Given the description of an element on the screen output the (x, y) to click on. 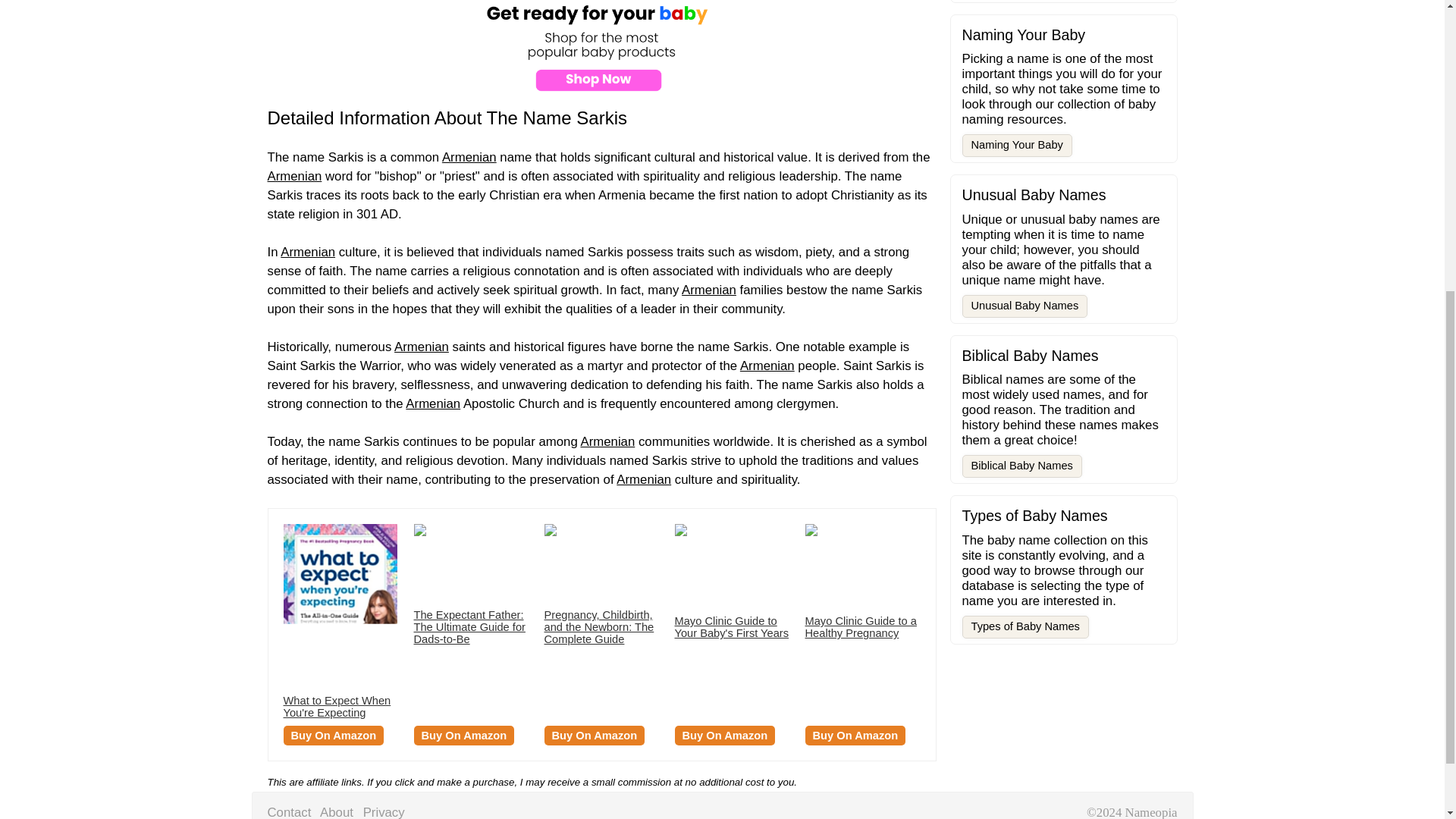
Armenian (433, 403)
Mayo Clinic Guide to Your Baby's First Years (732, 627)
Armenian (293, 175)
Buy On Amazon (594, 735)
Buy On Amazon (464, 735)
Armenian (708, 289)
Armenian (643, 479)
Pregnancy, Childbirth, and the Newborn: The Complete Guide (598, 627)
The Expectant Father: The Ultimate Guide for Dads-to-Be (469, 627)
Buy On Amazon (725, 735)
